Given the description of an element on the screen output the (x, y) to click on. 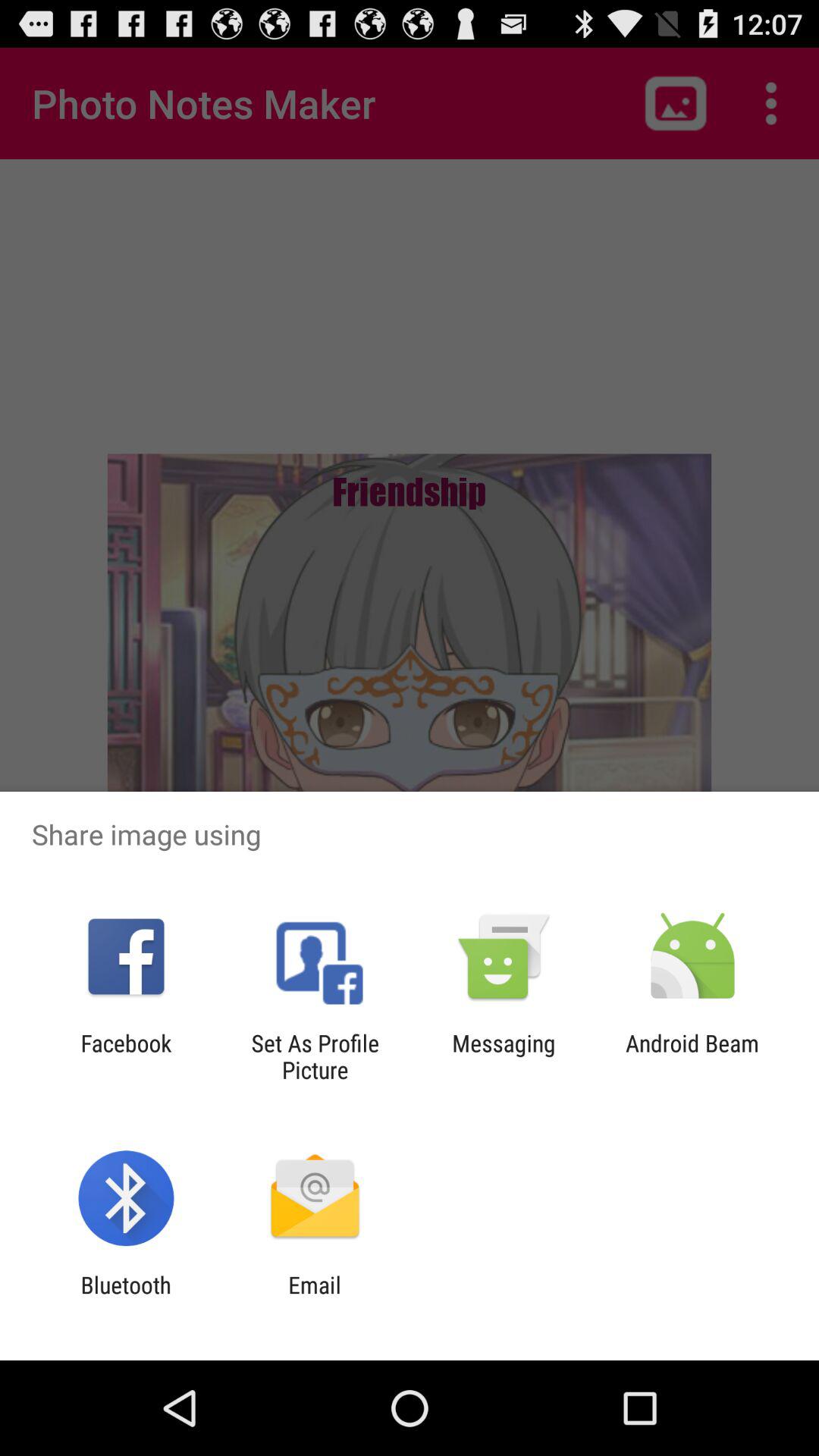
turn off the app to the left of the set as profile item (125, 1056)
